Given the description of an element on the screen output the (x, y) to click on. 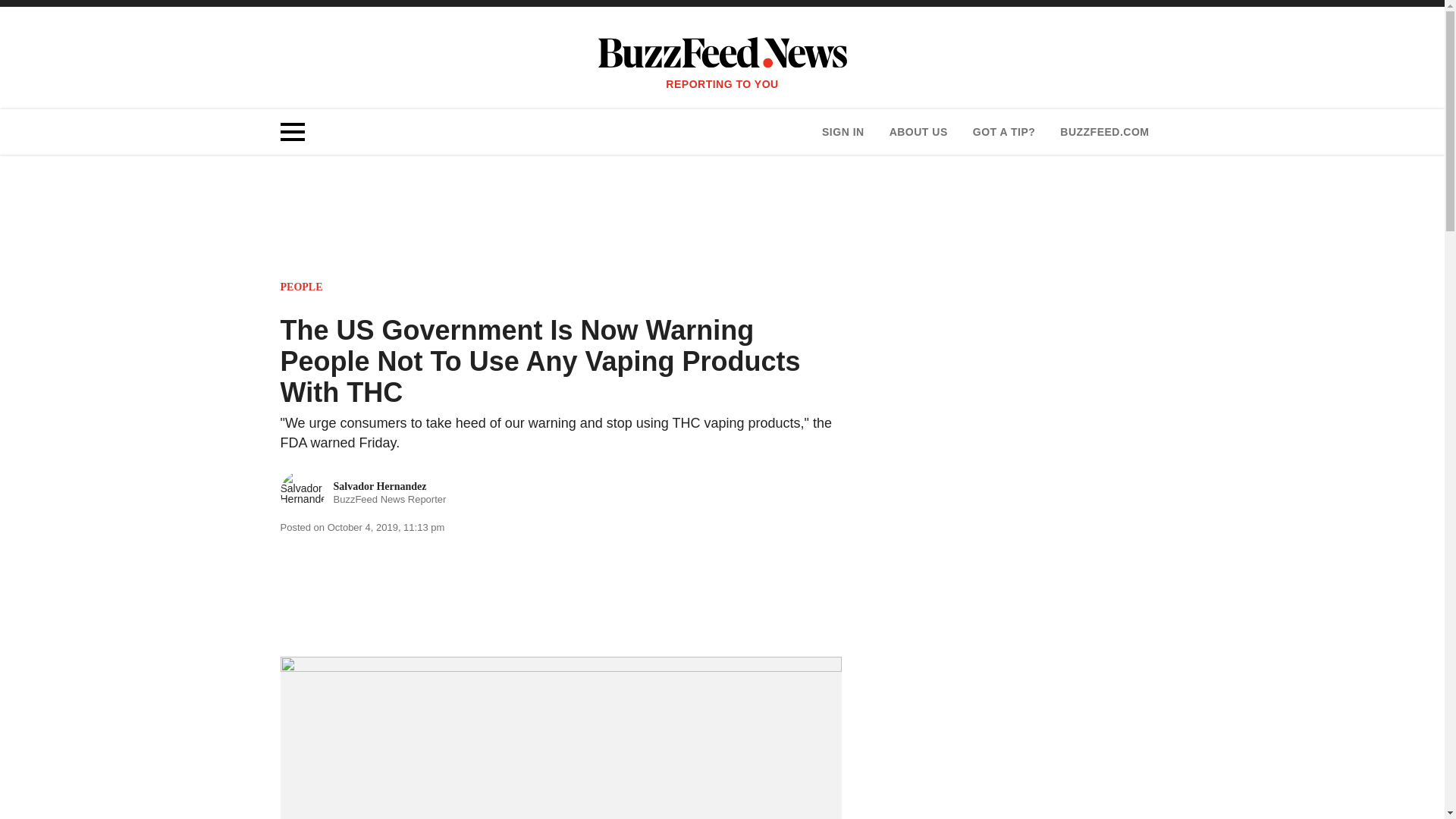
SIGN IN (842, 131)
PEOPLE (302, 286)
BUZZFEED.COM (1103, 131)
GOT A TIP? (363, 492)
ABOUT US (1003, 131)
